Given the description of an element on the screen output the (x, y) to click on. 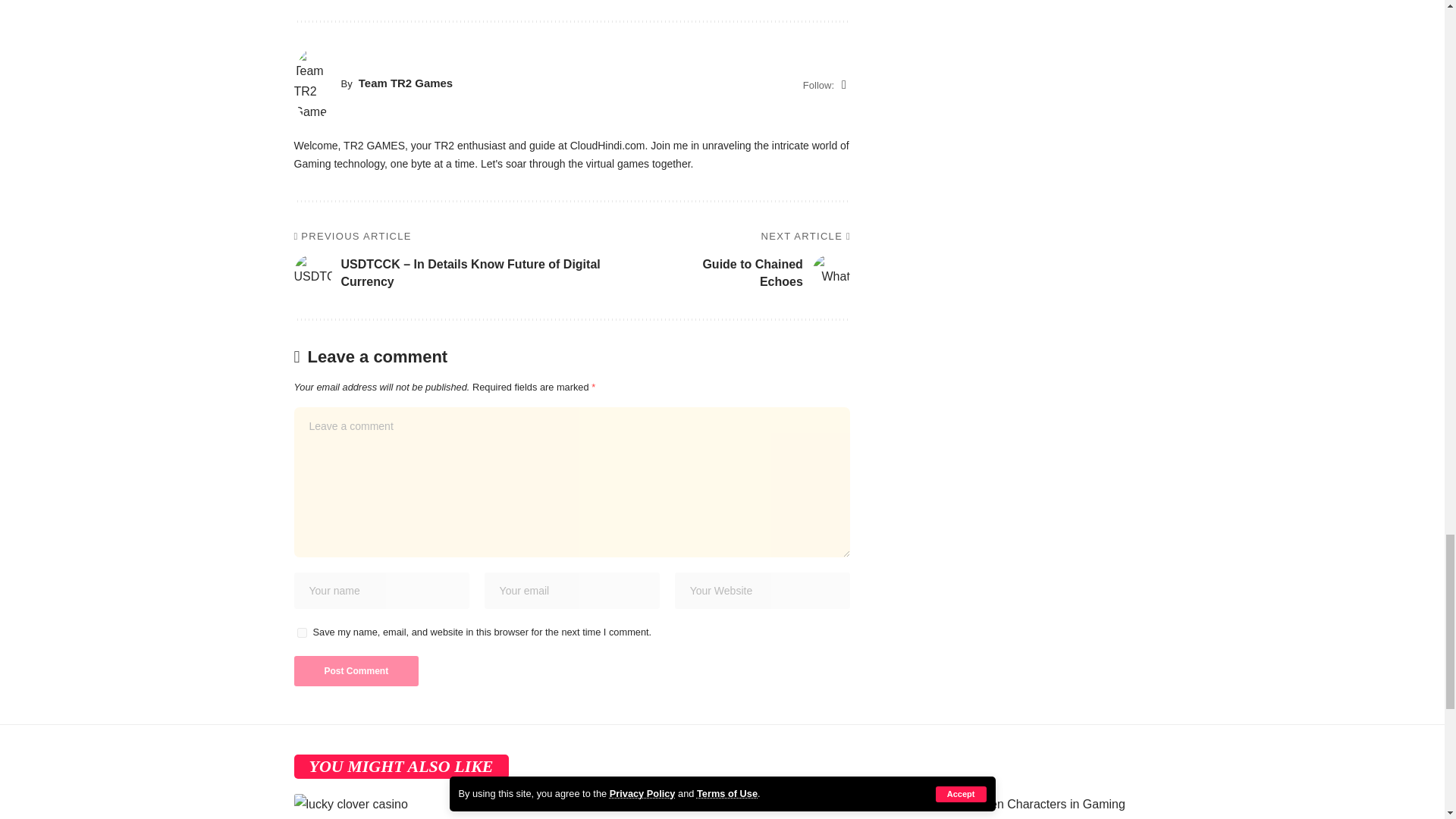
yes (302, 633)
A Complete Know About 5 Green Characters in Gaming (1049, 806)
Post Comment (356, 671)
